Given the description of an element on the screen output the (x, y) to click on. 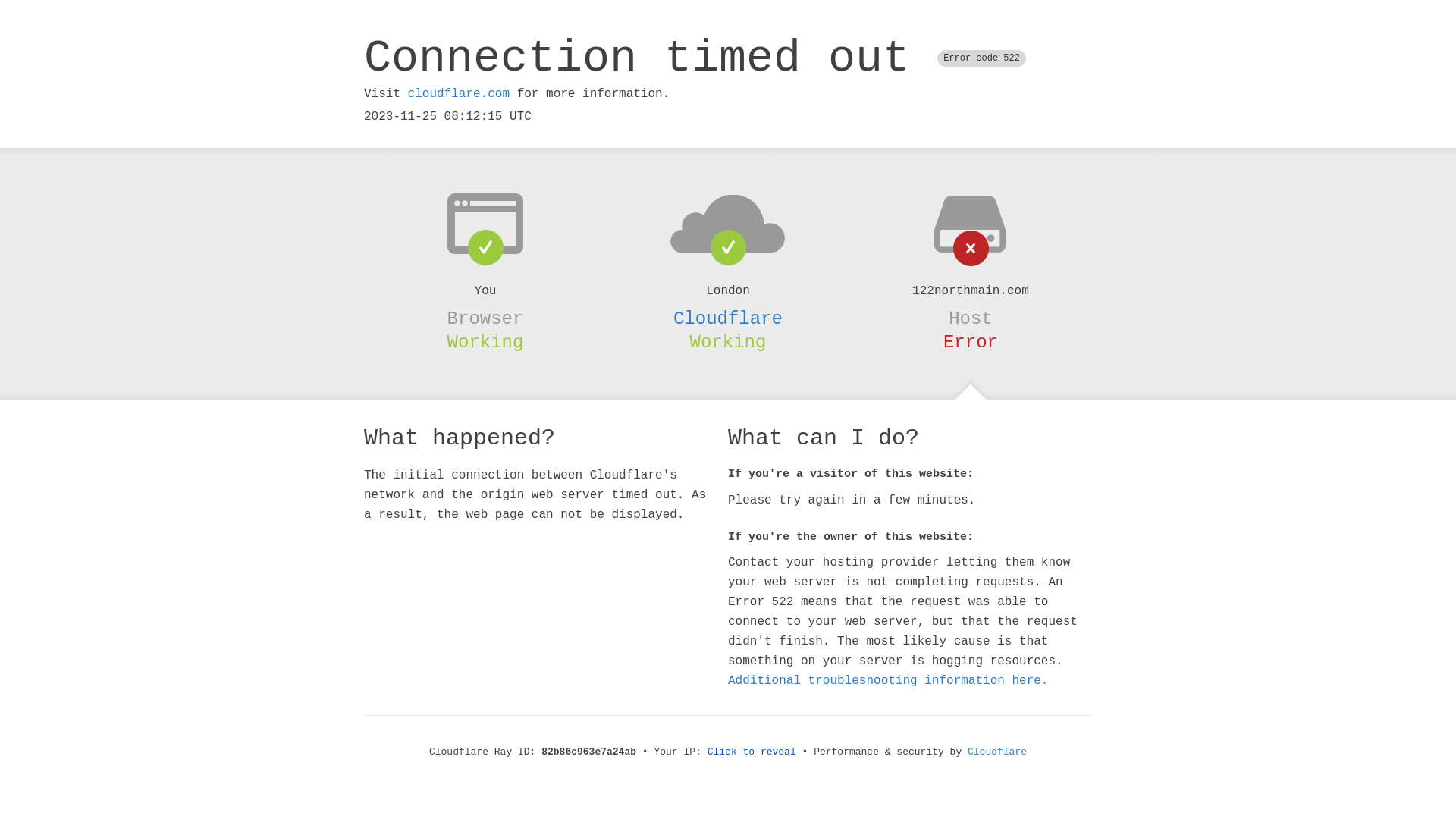
Cloudflare Element type: text (996, 751)
Click to reveal Element type: text (751, 751)
cloudflare.com Element type: text (458, 93)
Cloudflare Element type: text (727, 318)
Additional troubleshooting information here. Element type: text (888, 680)
